Given the description of an element on the screen output the (x, y) to click on. 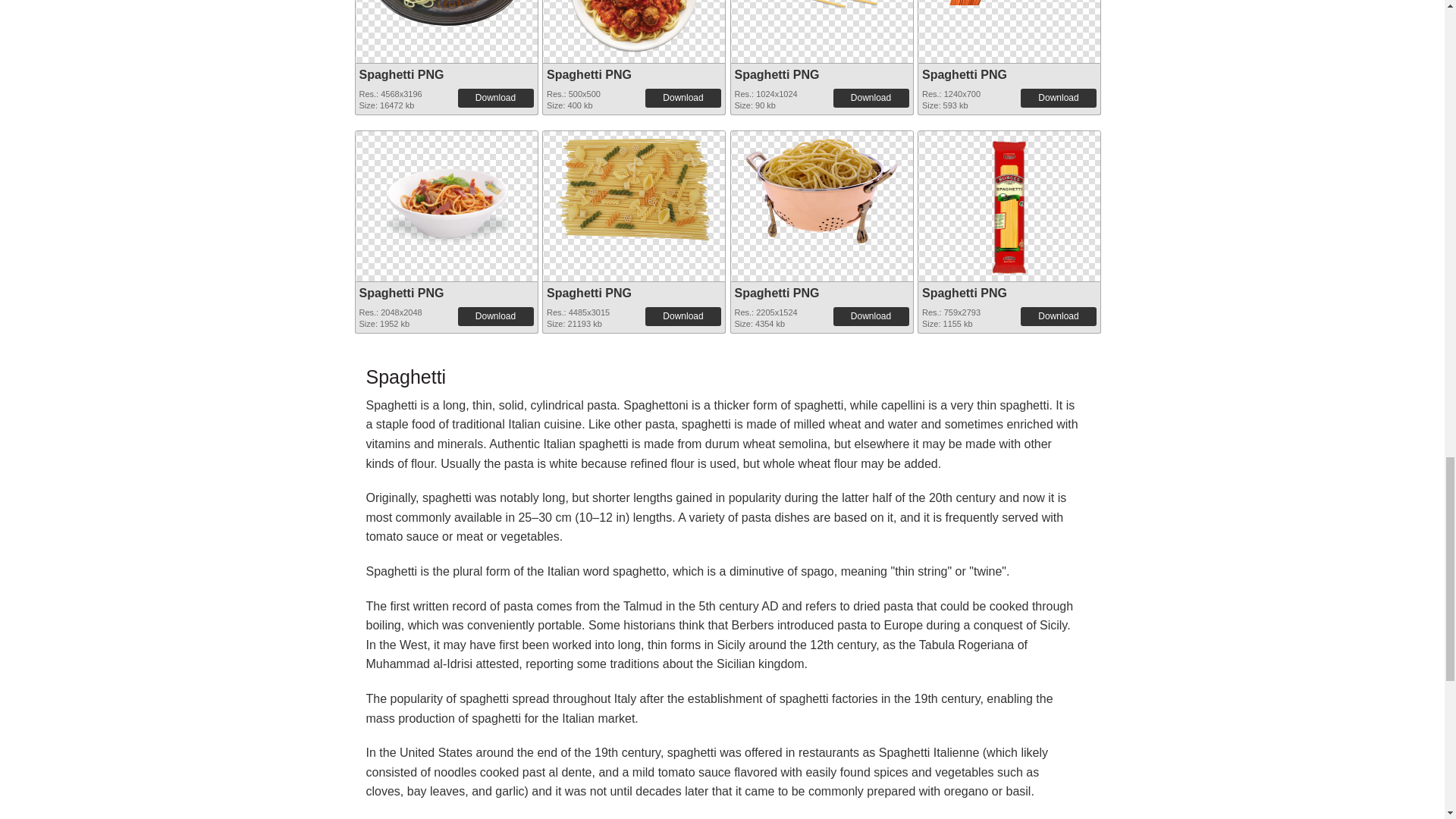
Spaghetti PNG (964, 74)
Spaghetti PNG (633, 28)
Spaghetti PNG (775, 74)
Download (496, 97)
Spaghetti PNG (445, 12)
Spaghetti PNG (821, 28)
Download (1058, 97)
Spaghetti PNG (589, 74)
Download (682, 97)
Spaghetti PNG (401, 74)
Download (870, 97)
